Given the description of an element on the screen output the (x, y) to click on. 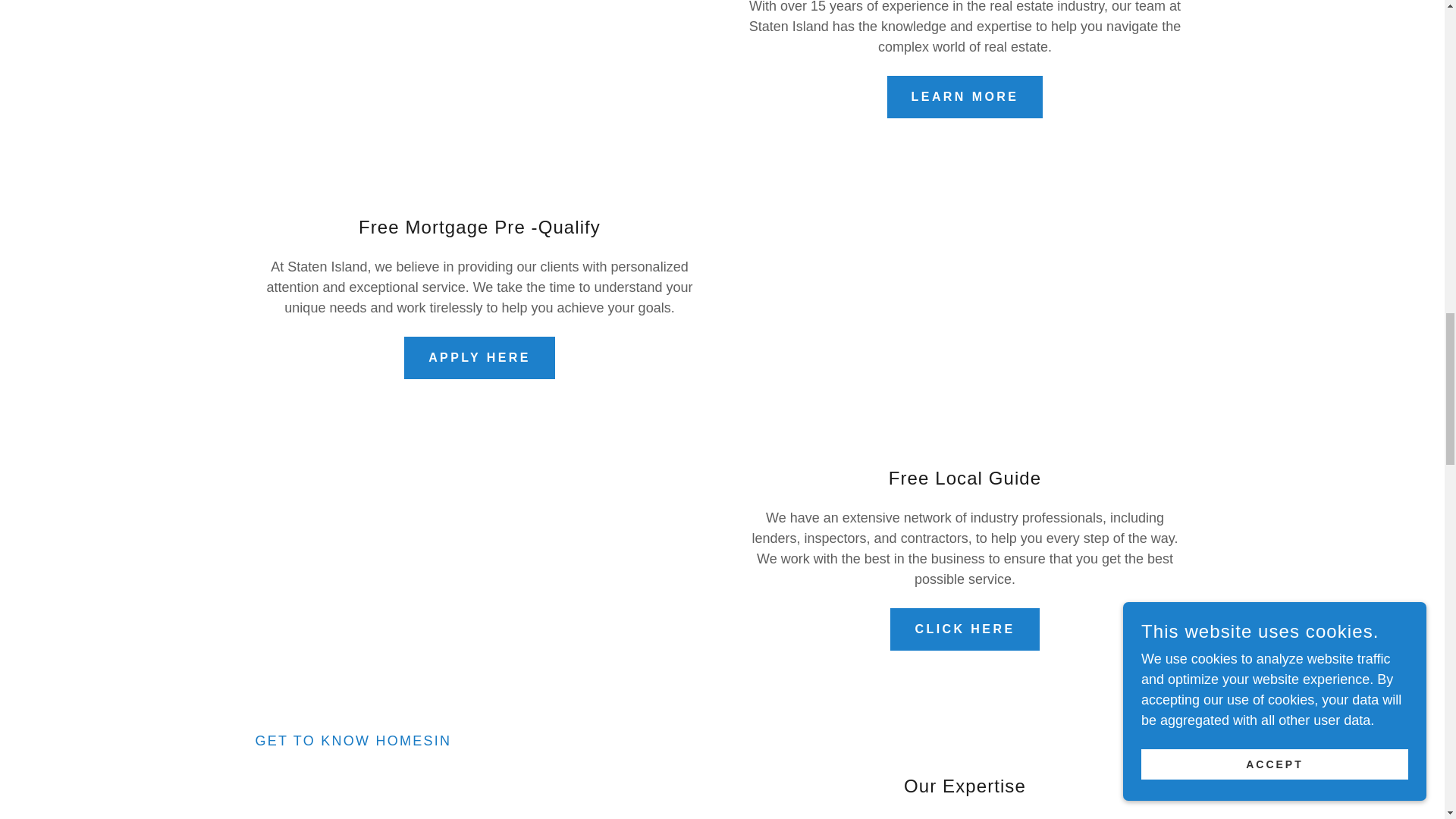
CLICK HERE (964, 629)
APPLY HERE (479, 357)
LEARN MORE (964, 96)
